Given the description of an element on the screen output the (x, y) to click on. 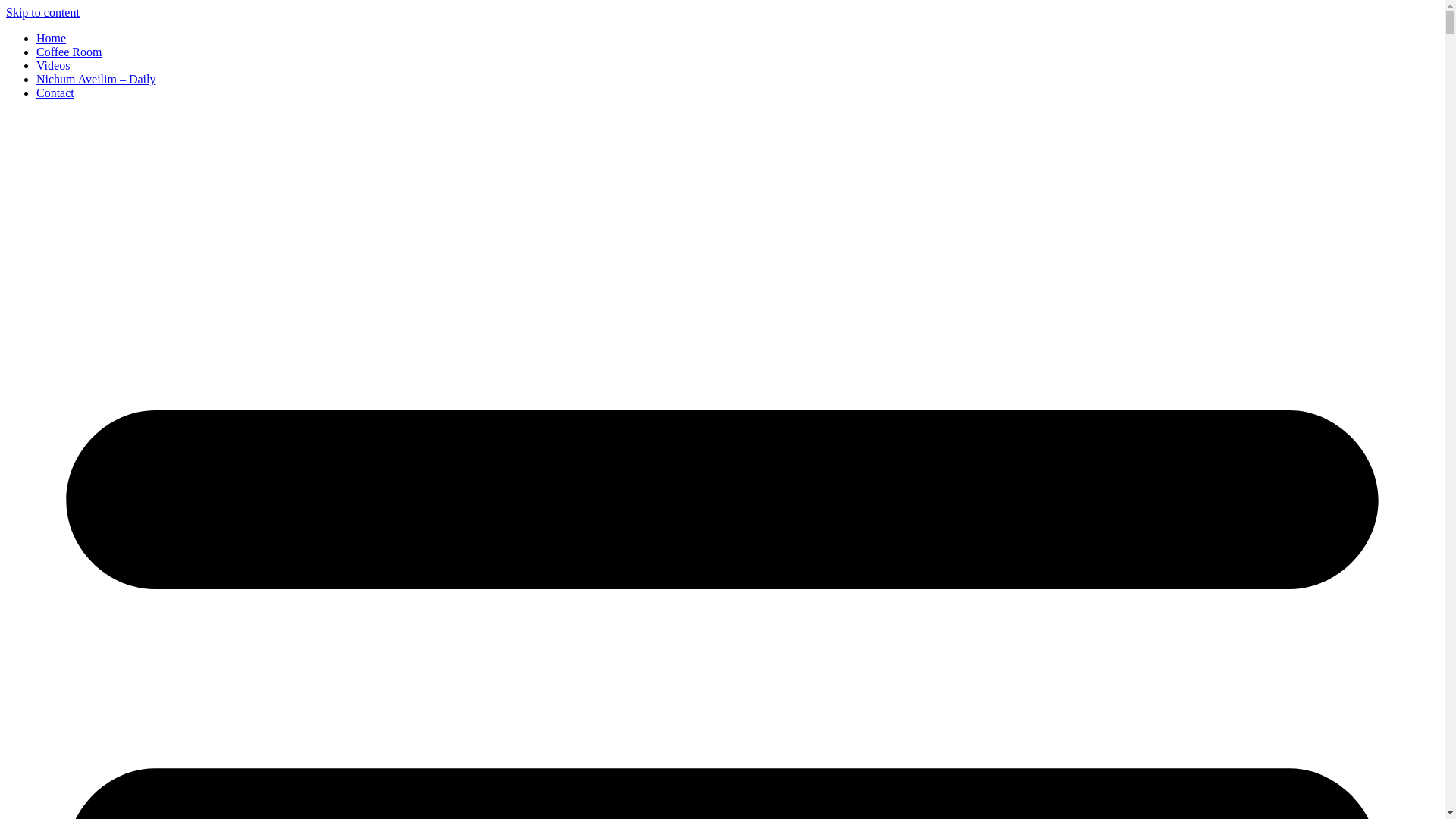
Videos (52, 65)
Home (50, 38)
Coffee Room (68, 51)
Contact (55, 92)
Skip to content (42, 11)
